Given the description of an element on the screen output the (x, y) to click on. 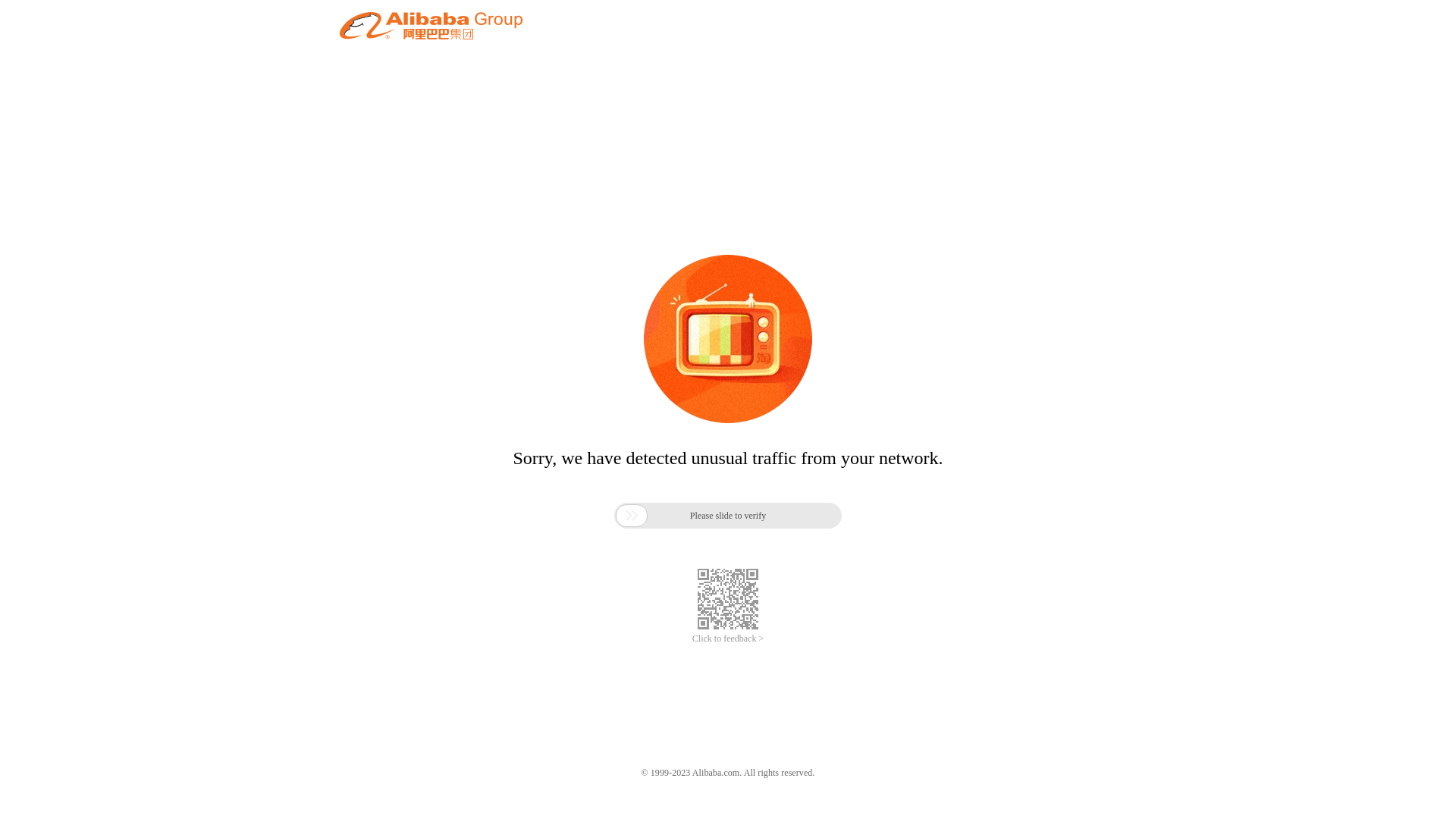
Click to feedback > Element type: text (727, 638)
